Given the description of an element on the screen output the (x, y) to click on. 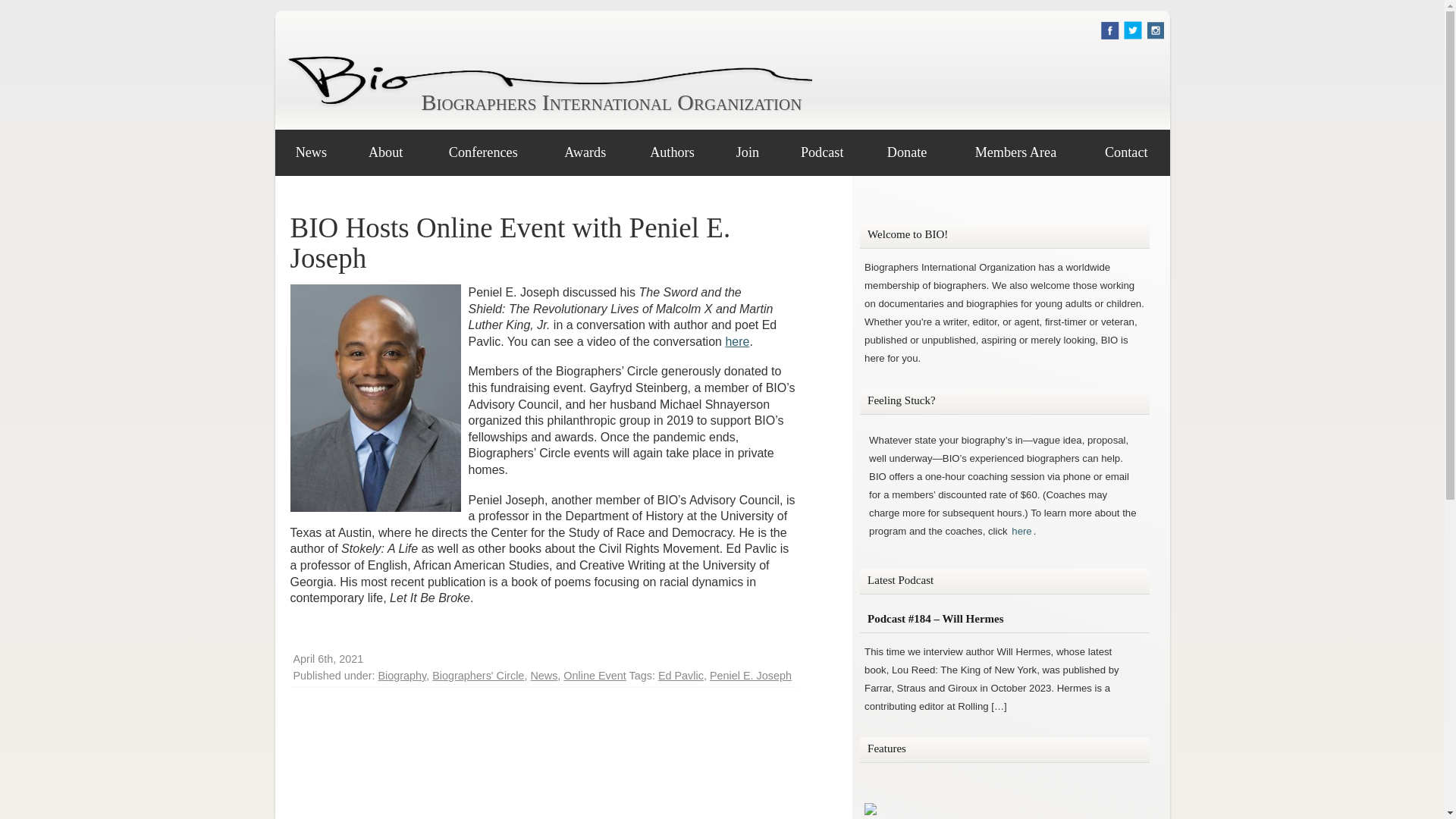
Donate (905, 152)
Join (747, 152)
Conferences (483, 152)
Members Area (1016, 152)
Authors (671, 152)
Follow us on Twitter (1132, 34)
View our Instagram Page (1155, 34)
here (737, 341)
About (385, 152)
Contact (1126, 152)
News (311, 152)
Biographers International Organization (609, 102)
Biography (402, 675)
Podcast (821, 152)
Awards (585, 152)
